Given the description of an element on the screen output the (x, y) to click on. 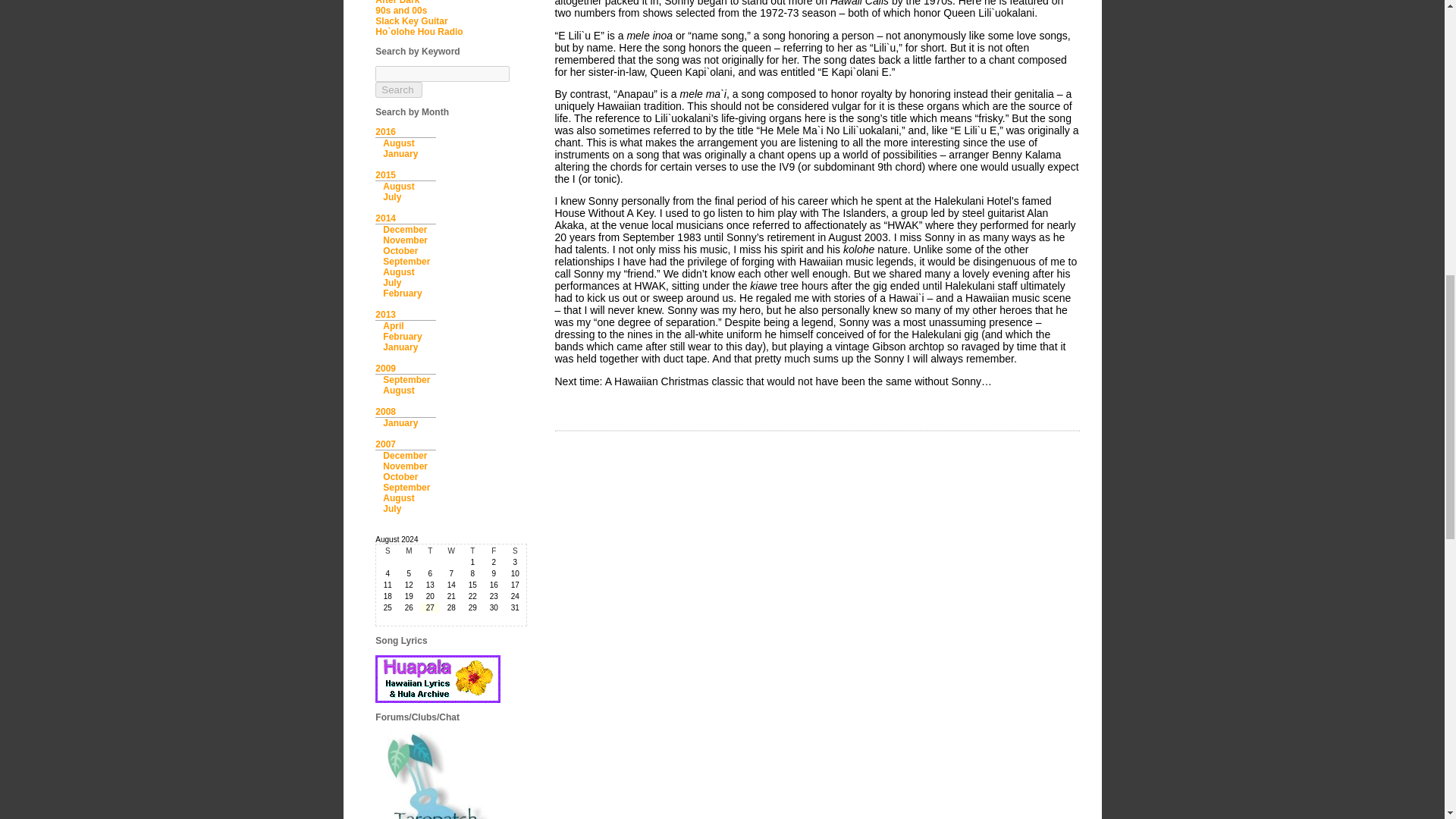
July (391, 282)
90s and 00s (400, 9)
Search  (398, 89)
January (399, 153)
July (391, 196)
August (397, 271)
August (397, 185)
Sunday (387, 551)
September (405, 261)
Wednesday (451, 551)
